Given the description of an element on the screen output the (x, y) to click on. 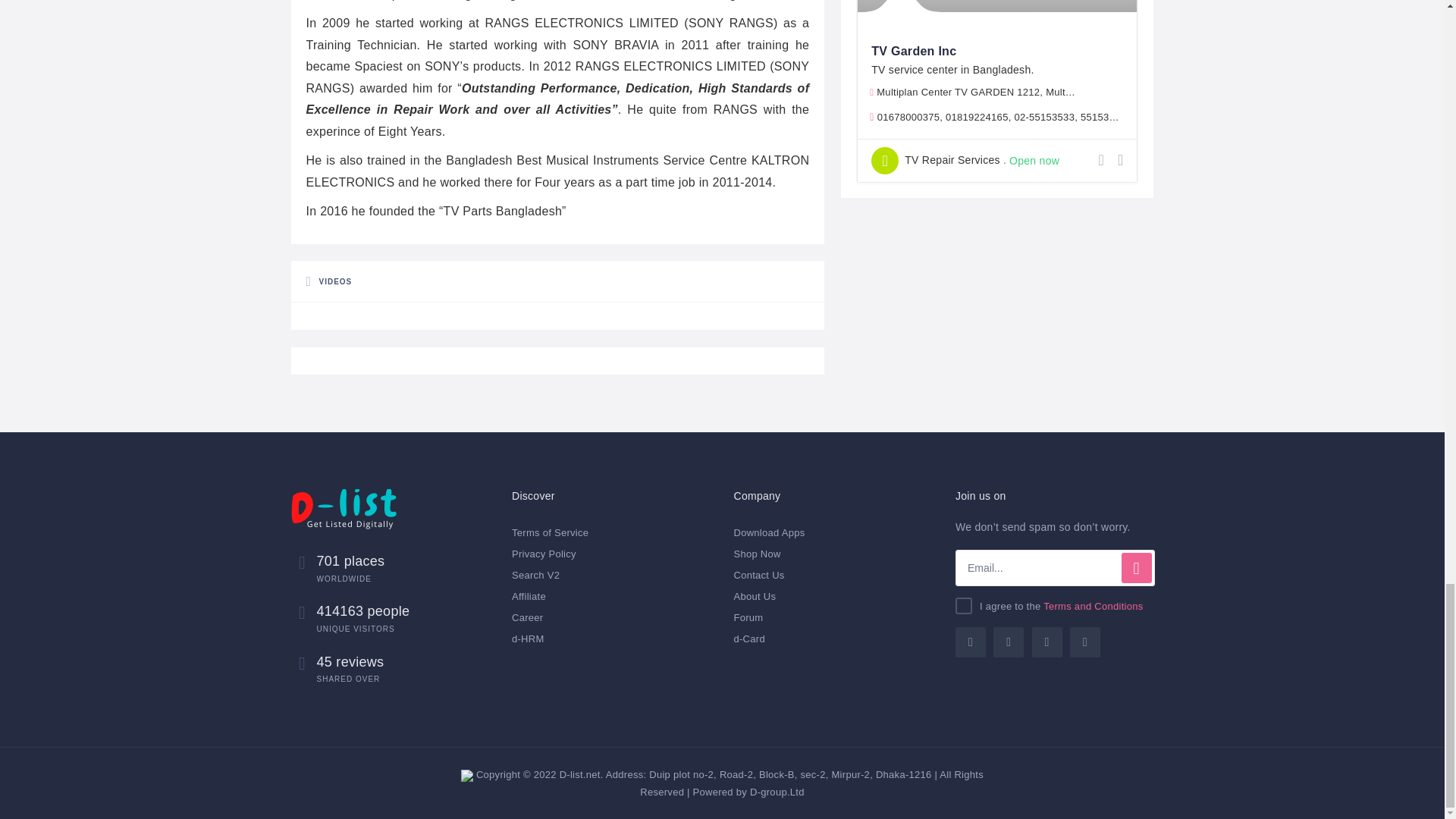
TV Repair Services (935, 160)
